Given the description of an element on the screen output the (x, y) to click on. 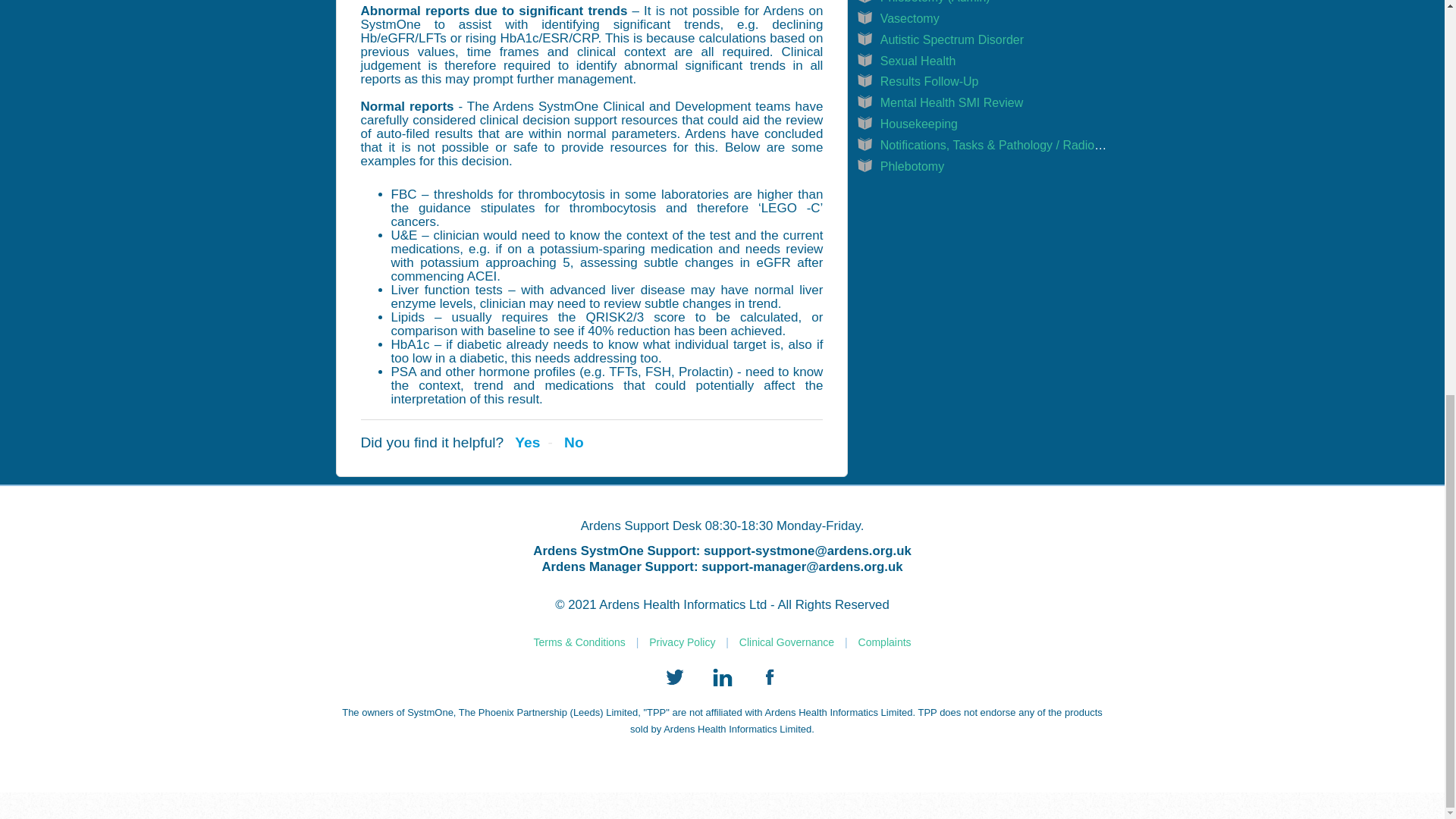
Phlebotomy (912, 165)
Vasectomy (909, 18)
Results Follow-Up (929, 81)
Mental Health SMI Review (951, 102)
Privacy Policy (681, 642)
Complaints (885, 642)
Autistic Spectrum Disorder (951, 39)
Sexual Health (918, 60)
Housekeeping (919, 123)
Clinical Governance (786, 642)
